Given the description of an element on the screen output the (x, y) to click on. 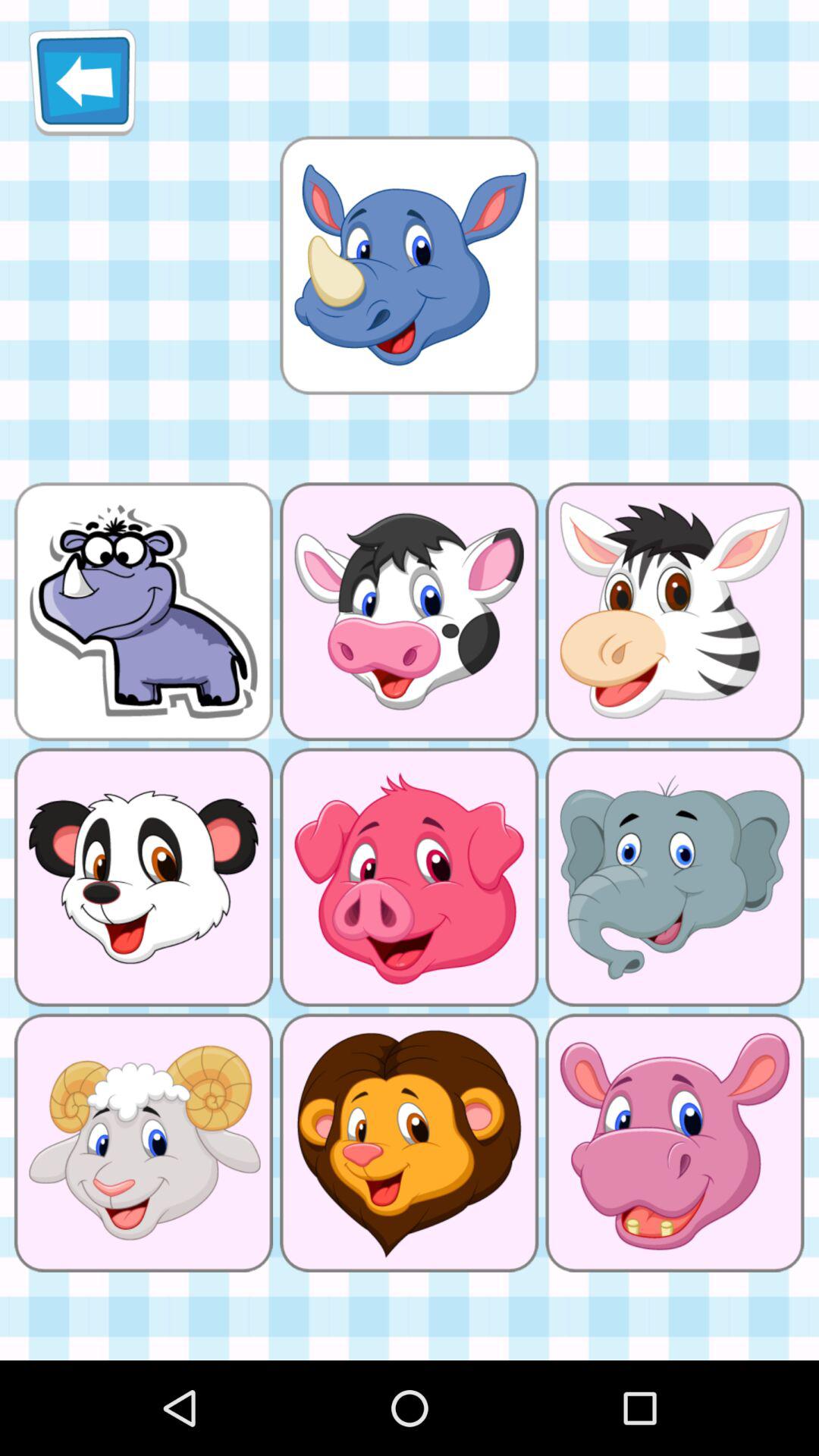
toggle to add (409, 264)
